Given the description of an element on the screen output the (x, y) to click on. 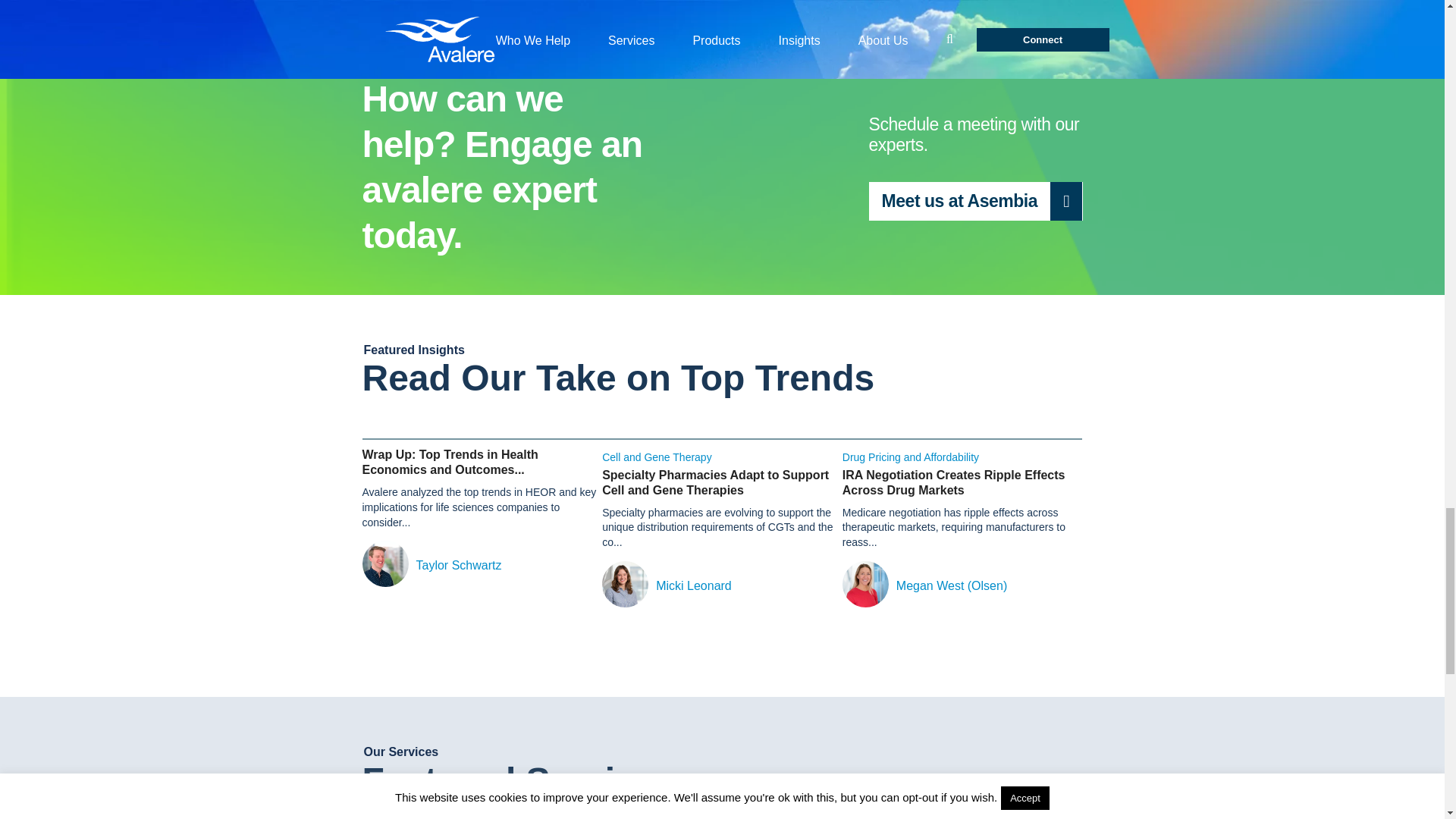
Cell and Gene Therapy (656, 457)
Drug Pricing and Affordability (910, 457)
